Given the description of an element on the screen output the (x, y) to click on. 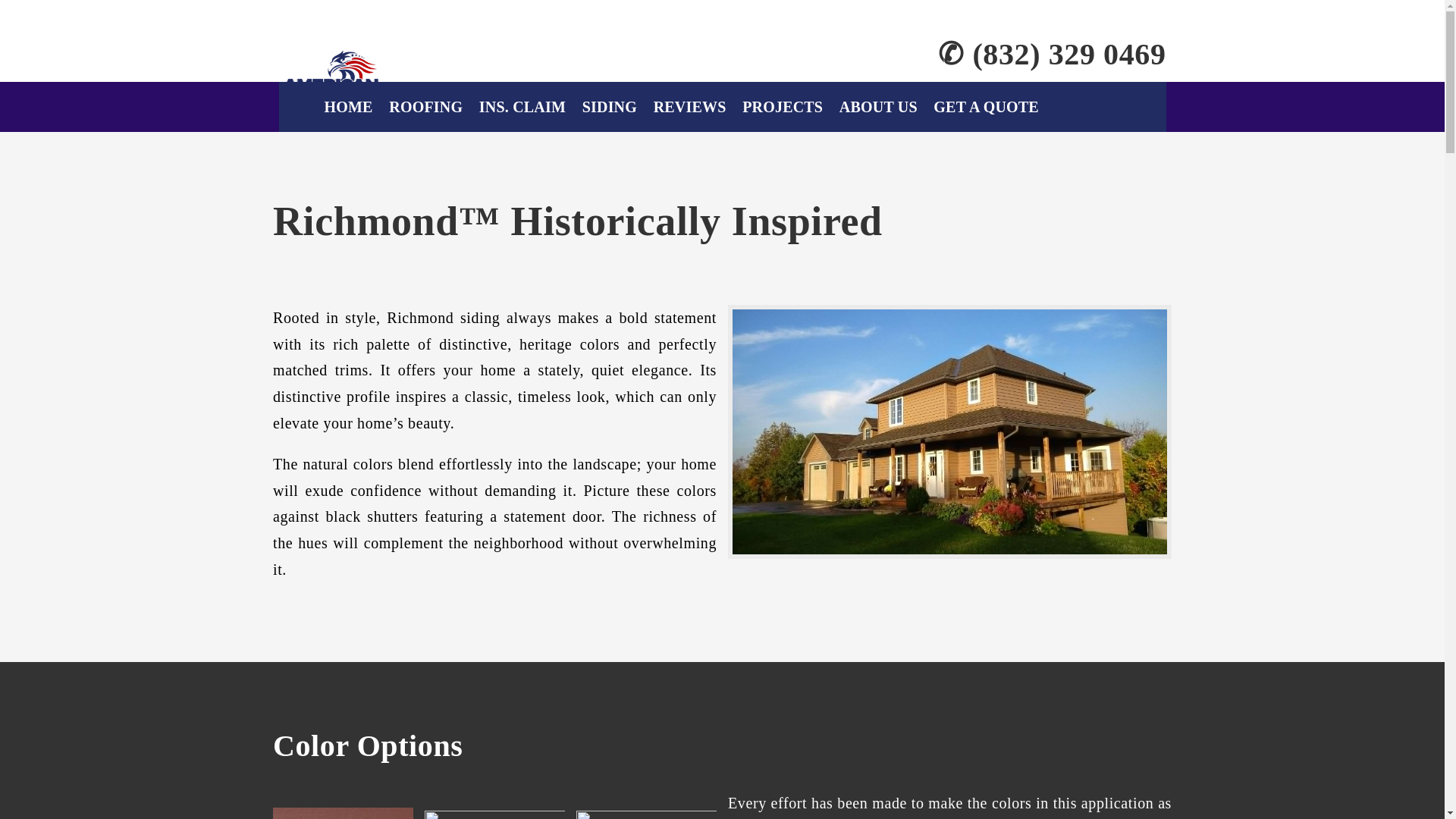
SIDING (609, 106)
GET A QUOTE (986, 106)
18-003-Bob-W.-Wood-Richmond-D6-Pecan (949, 431)
ABOUT US (878, 106)
INS. CLAIM (522, 106)
Brick (343, 813)
REVIEWS (689, 106)
HOME (348, 106)
Charcoal (494, 813)
Cobalt (646, 813)
ROOFING (425, 106)
PROJECTS (782, 106)
